Given the description of an element on the screen output the (x, y) to click on. 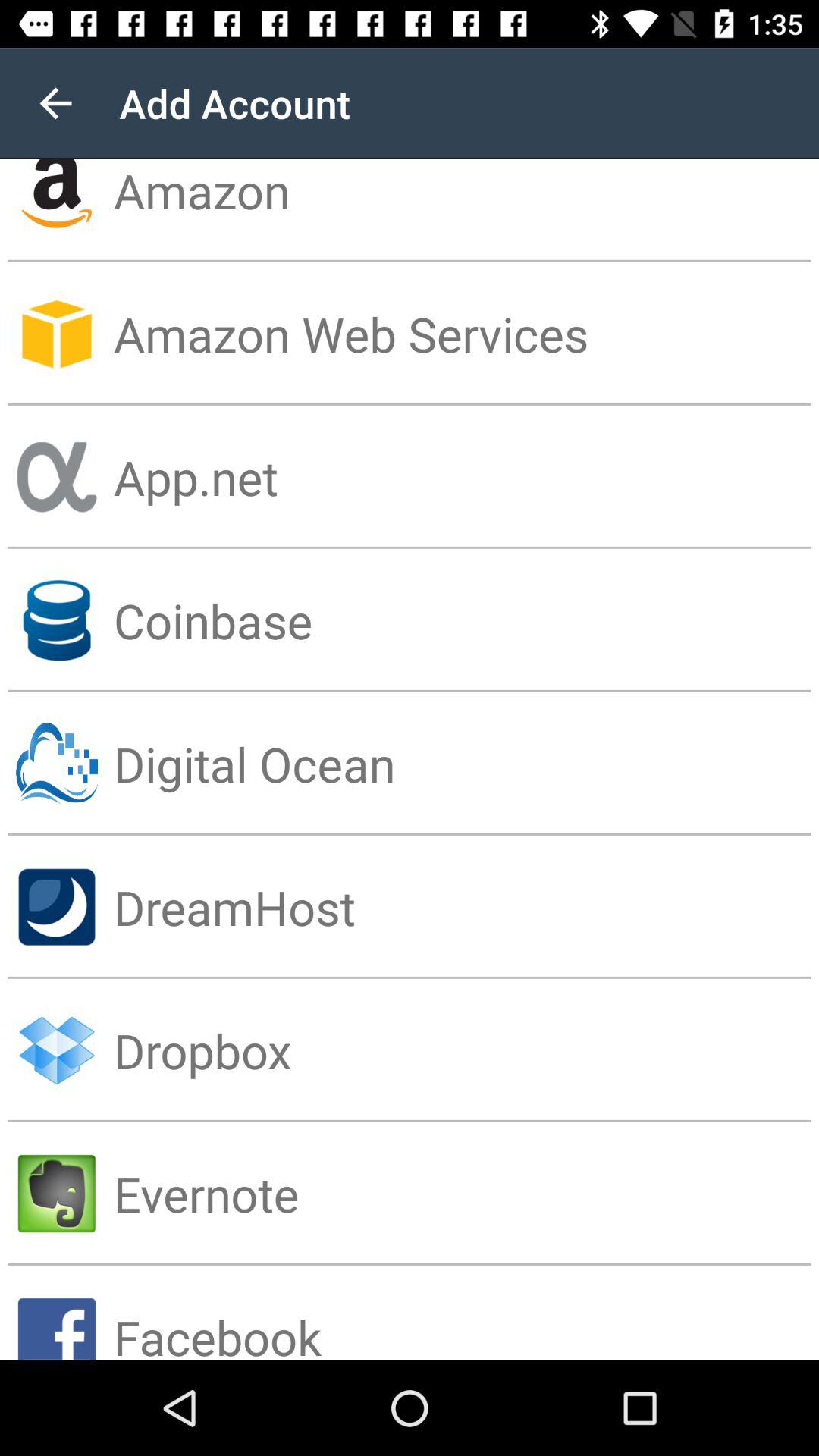
select the app below amazon item (466, 333)
